Given the description of an element on the screen output the (x, y) to click on. 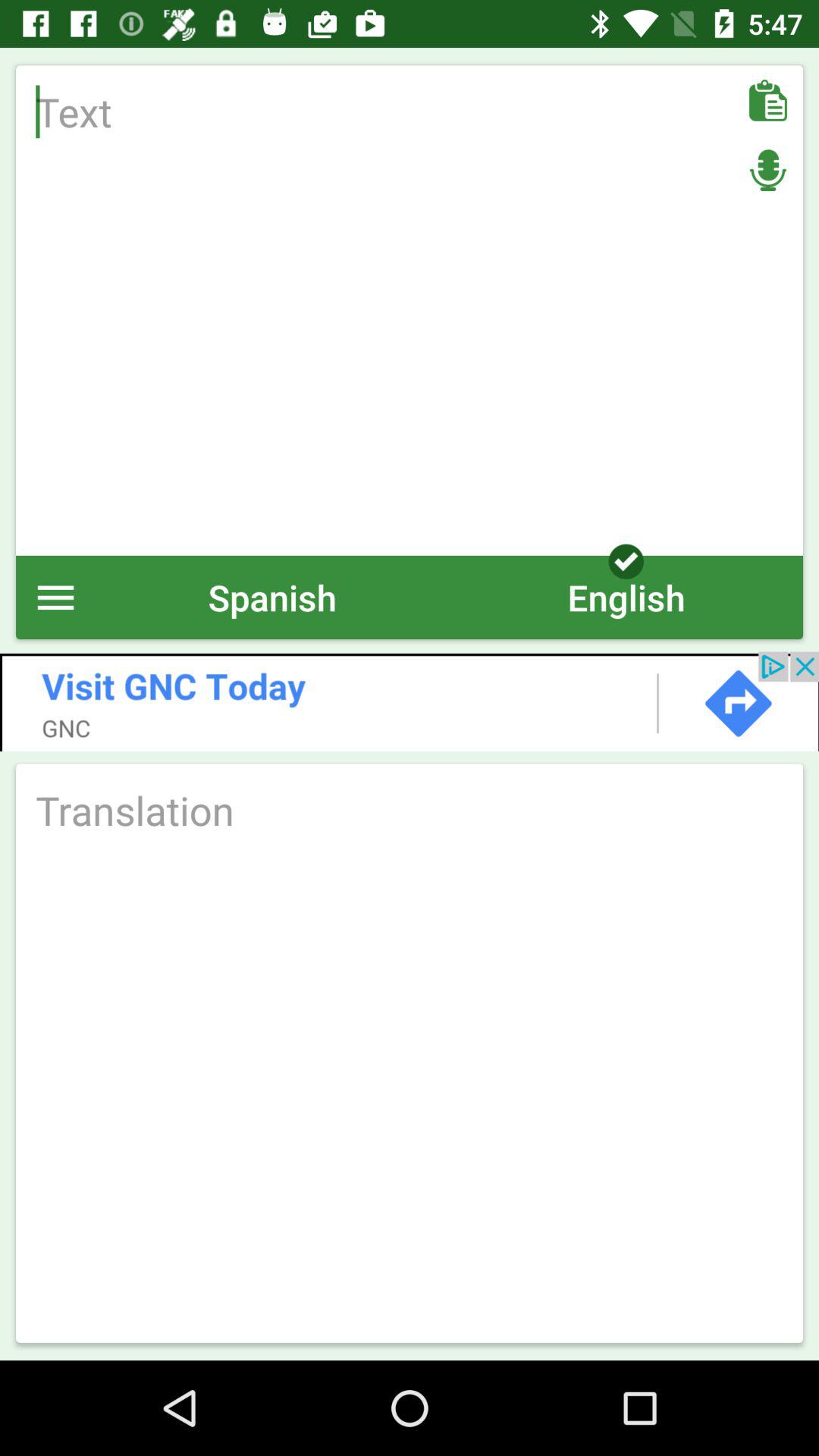
translation text area (409, 809)
